Given the description of an element on the screen output the (x, y) to click on. 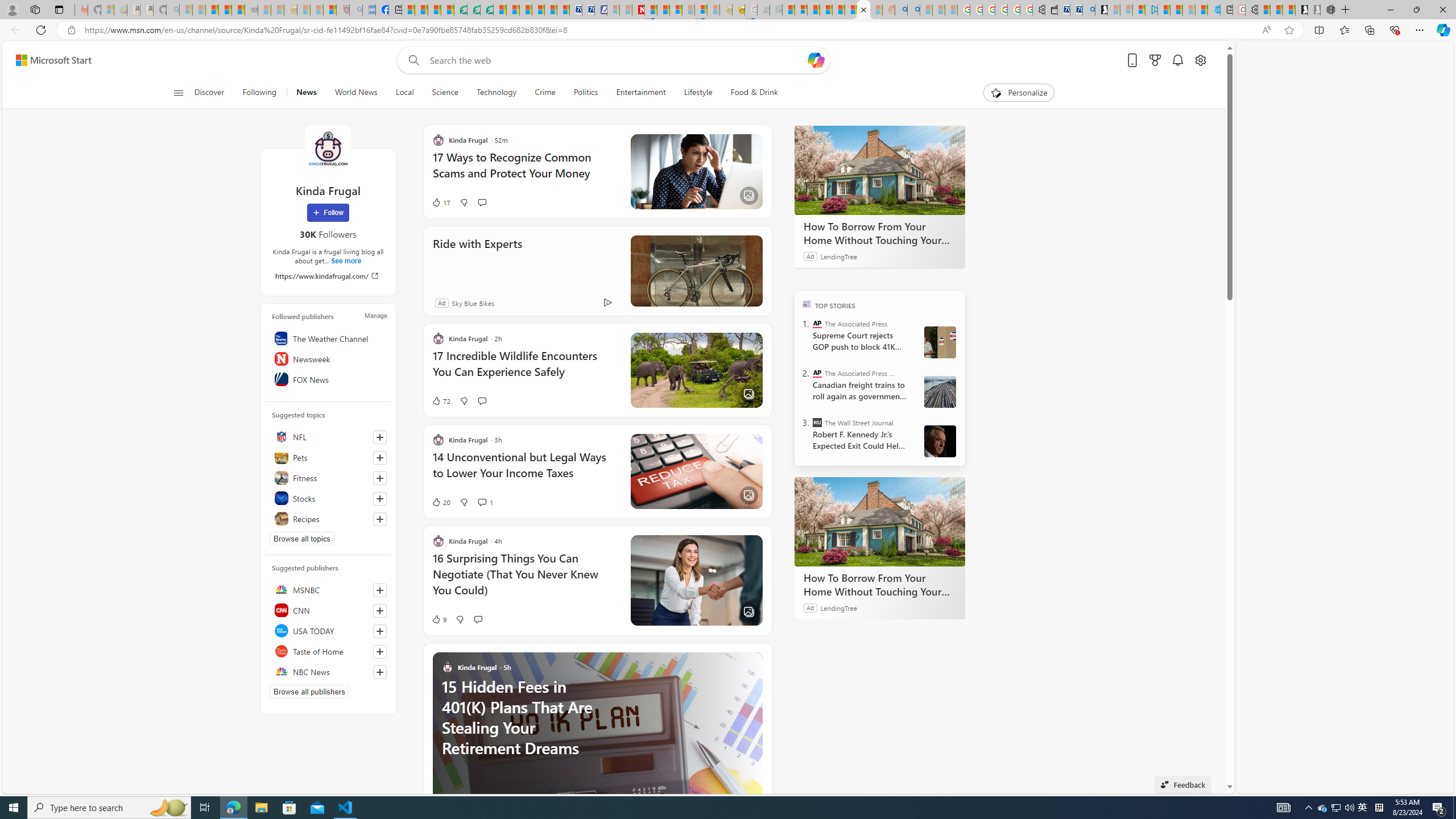
Science (444, 92)
9 Like (438, 619)
Local - MSN (329, 9)
Local (404, 92)
Play Free Online Games | Games from Microsoft Start (1301, 9)
20 Like (440, 502)
Microsoft-Report a Concern to Bing - Sleeping (107, 9)
Taste of Home (327, 650)
Recipes (327, 518)
FOX News (327, 379)
Browse all topics (301, 538)
